Given the description of an element on the screen output the (x, y) to click on. 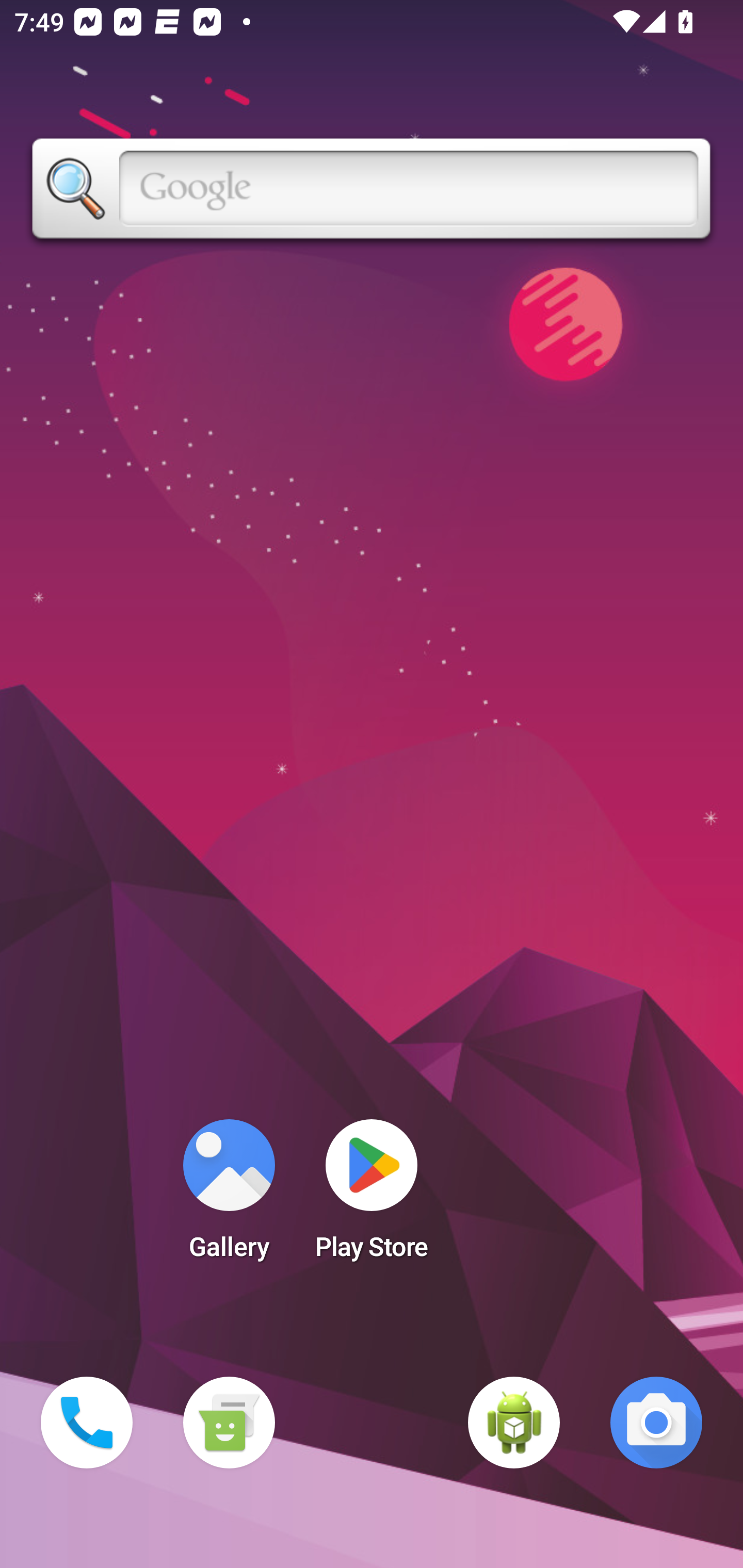
Gallery (228, 1195)
Play Store (371, 1195)
Phone (86, 1422)
Messaging (228, 1422)
WebView Browser Tester (513, 1422)
Camera (656, 1422)
